Given the description of an element on the screen output the (x, y) to click on. 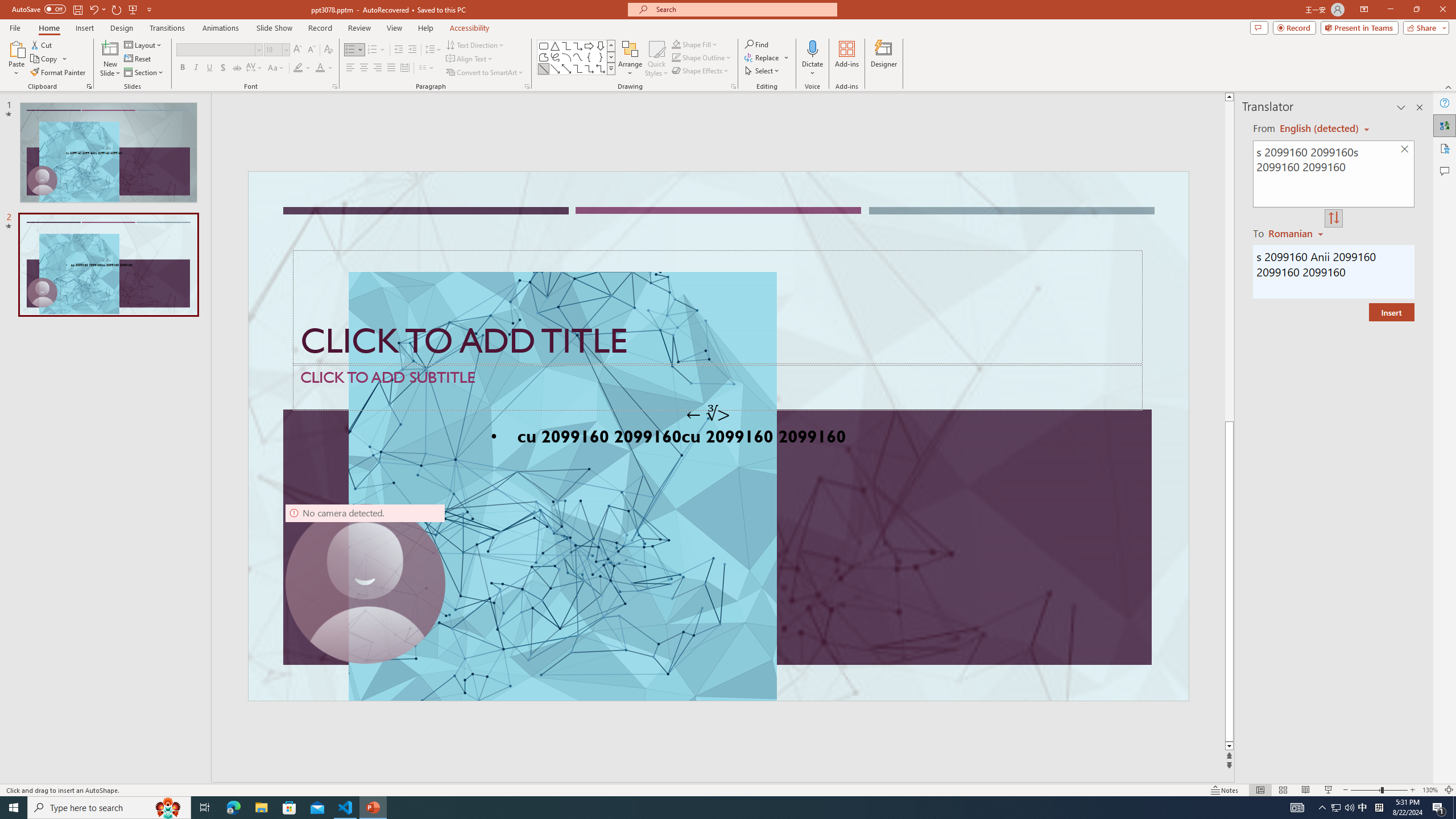
TextBox 61 (716, 438)
